Given the description of an element on the screen output the (x, y) to click on. 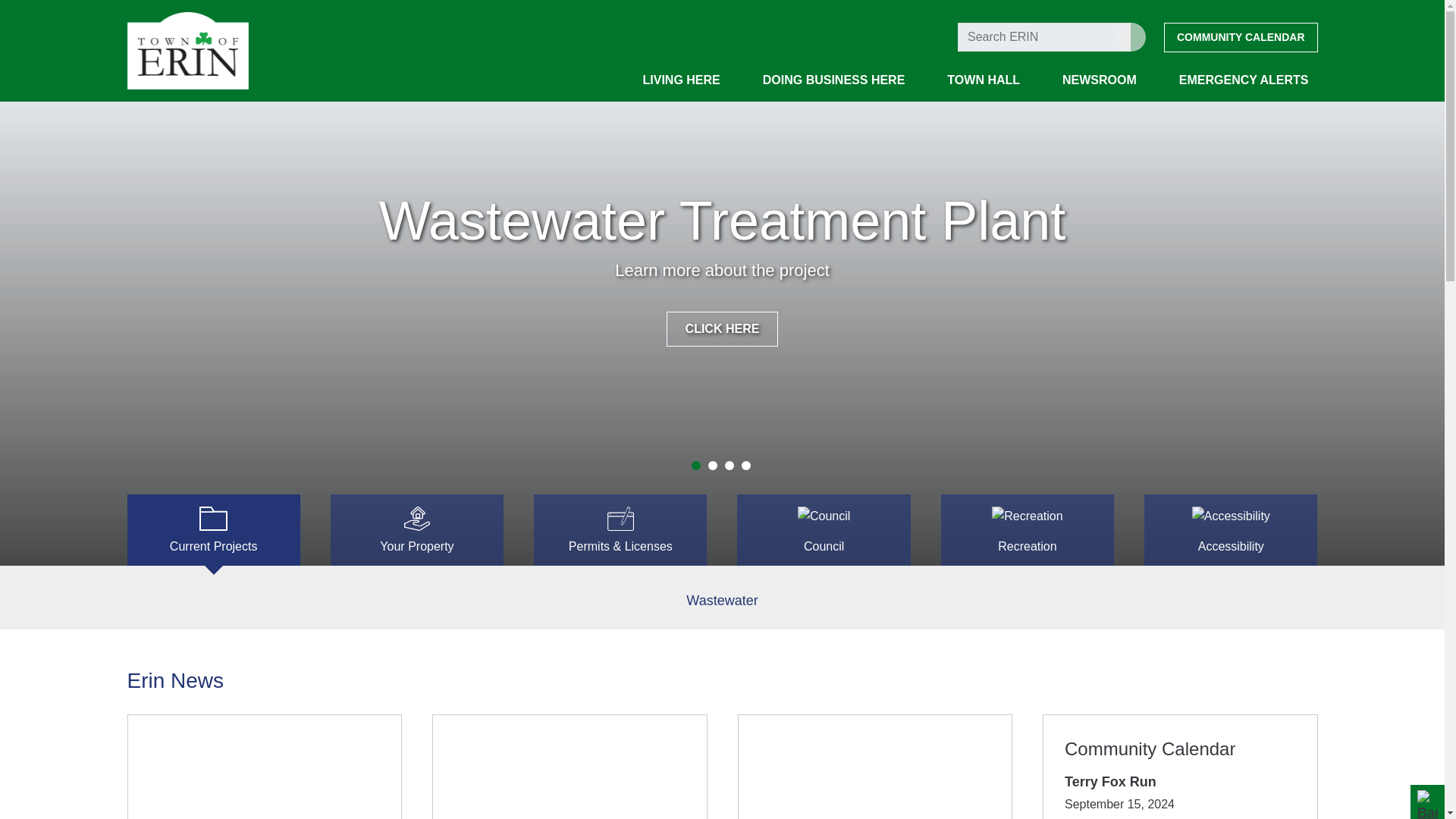
LIVING HERE (681, 83)
COMMUNITY CALENDAR (1240, 37)
SEARCH (1130, 36)
